Given the description of an element on the screen output the (x, y) to click on. 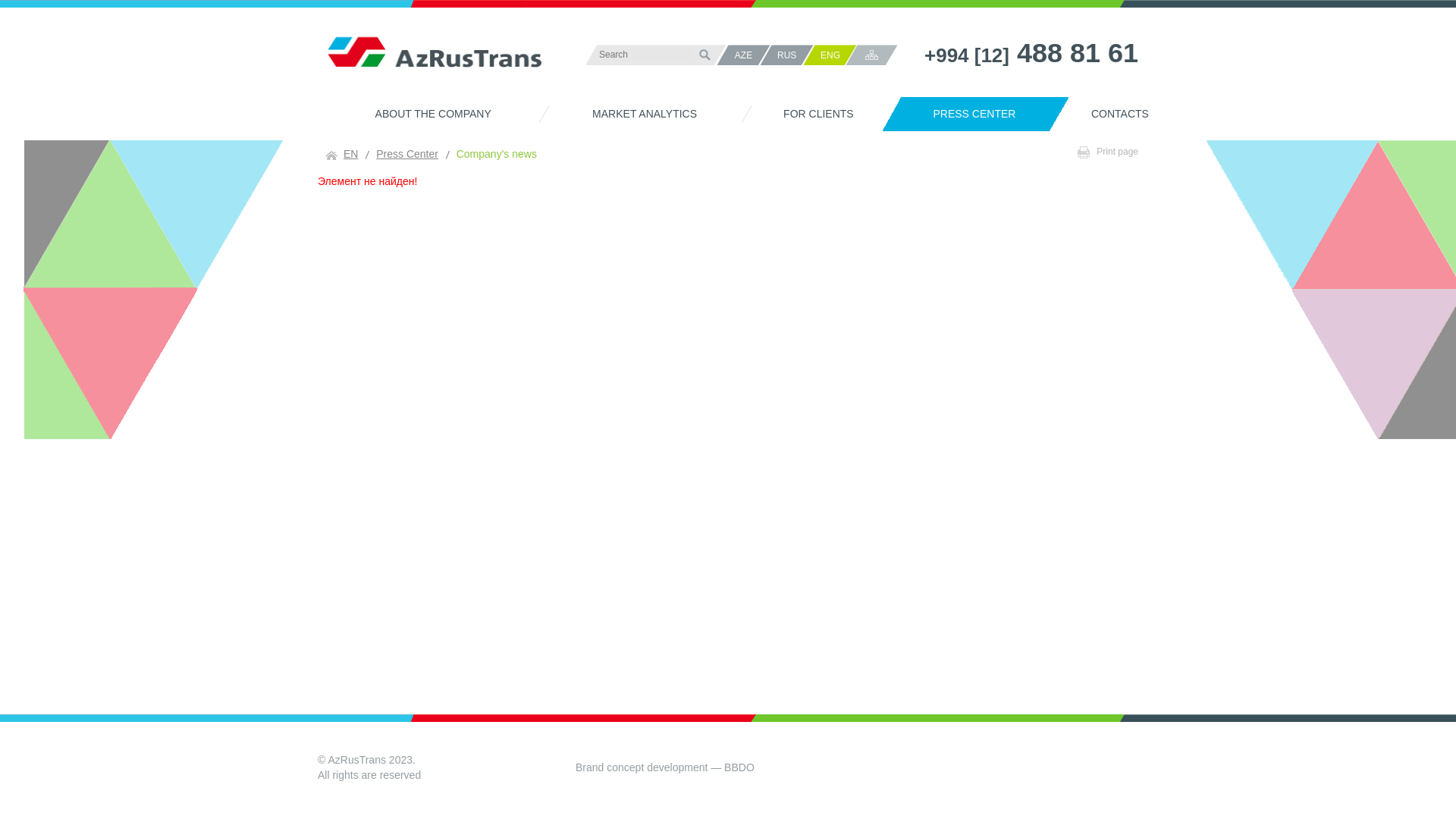
ENG Element type: text (835, 54)
Site map Element type: hover (871, 54)
+994 [12] 488 81 61 Element type: text (1031, 54)
Go To Index Page Element type: hover (433, 59)
ABOUT THE COMPANY Element type: text (423, 114)
CONTACTS Element type: text (1110, 114)
Press Center Element type: text (407, 153)
Print page Element type: text (1107, 152)
EN Element type: text (341, 153)
RUS Element type: text (792, 54)
AZE Element type: text (749, 54)
MARKET ANALYTICS Element type: text (634, 114)
FOR CLIENTS Element type: text (808, 114)
PRESS CENTER Element type: text (964, 114)
